Given the description of an element on the screen output the (x, y) to click on. 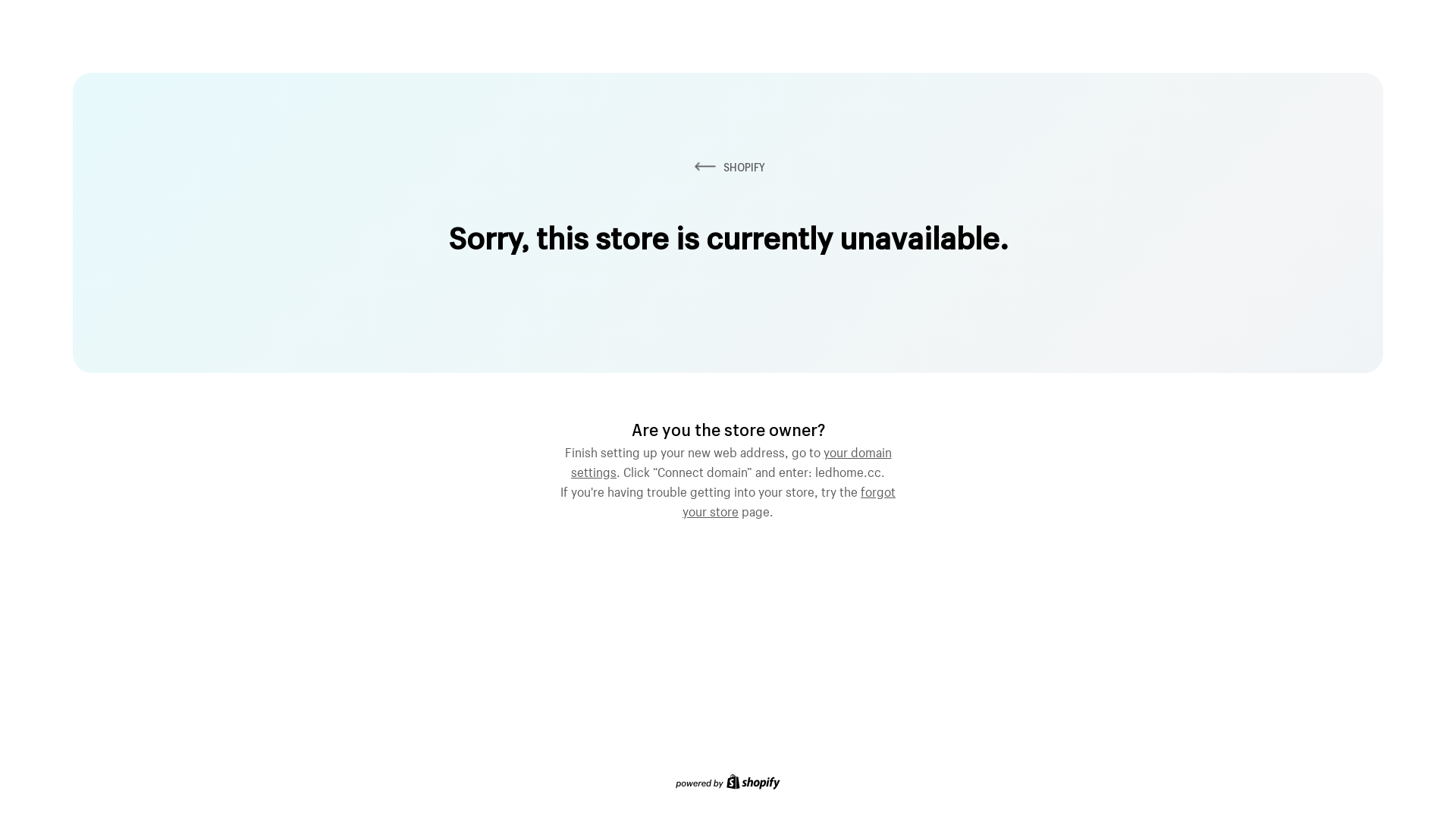
SHOPIFY Element type: text (727, 167)
forgot your store Element type: text (788, 499)
your domain settings Element type: text (731, 460)
